Given the description of an element on the screen output the (x, y) to click on. 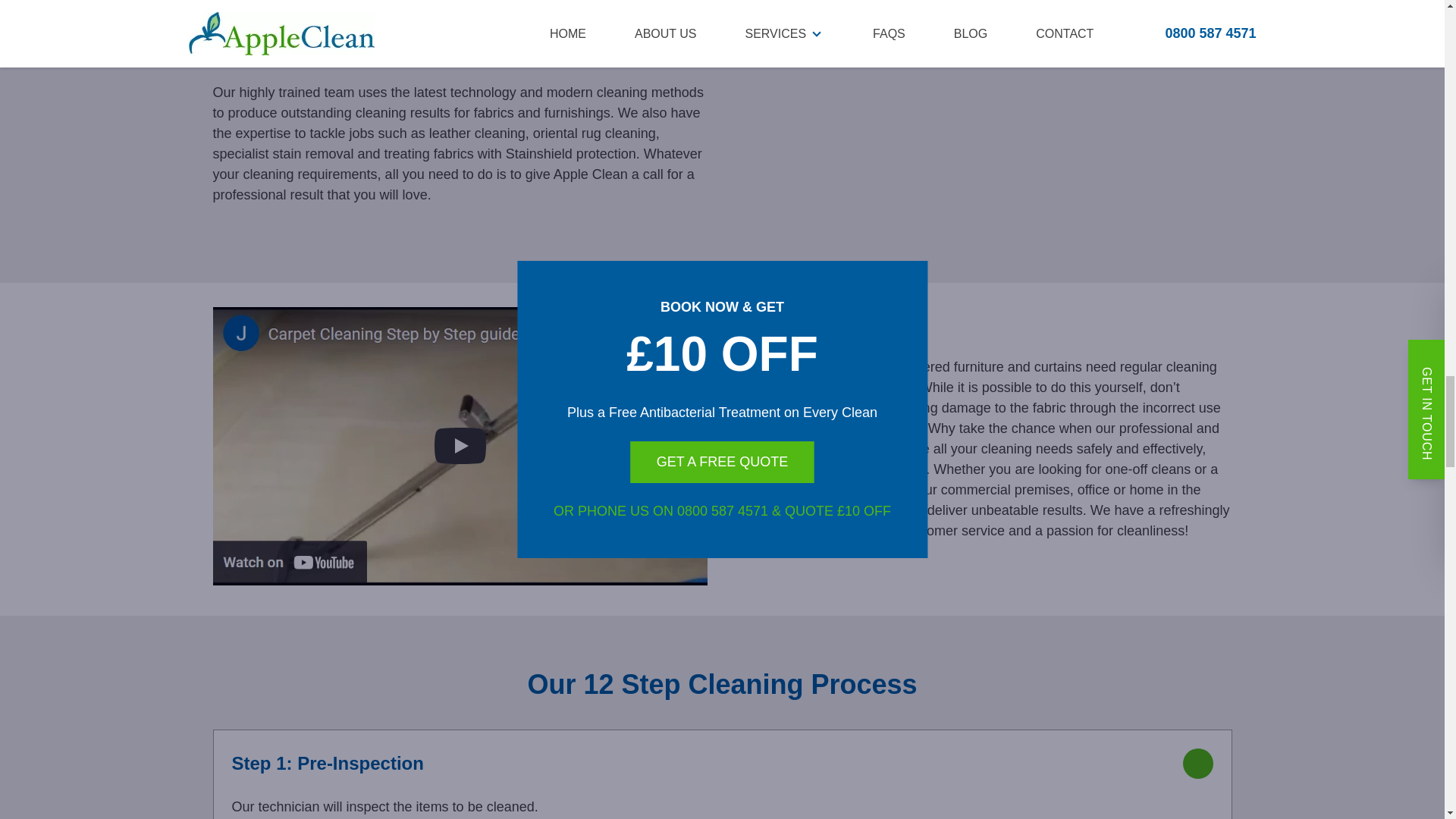
Accordion Toggle (1198, 763)
